Given the description of an element on the screen output the (x, y) to click on. 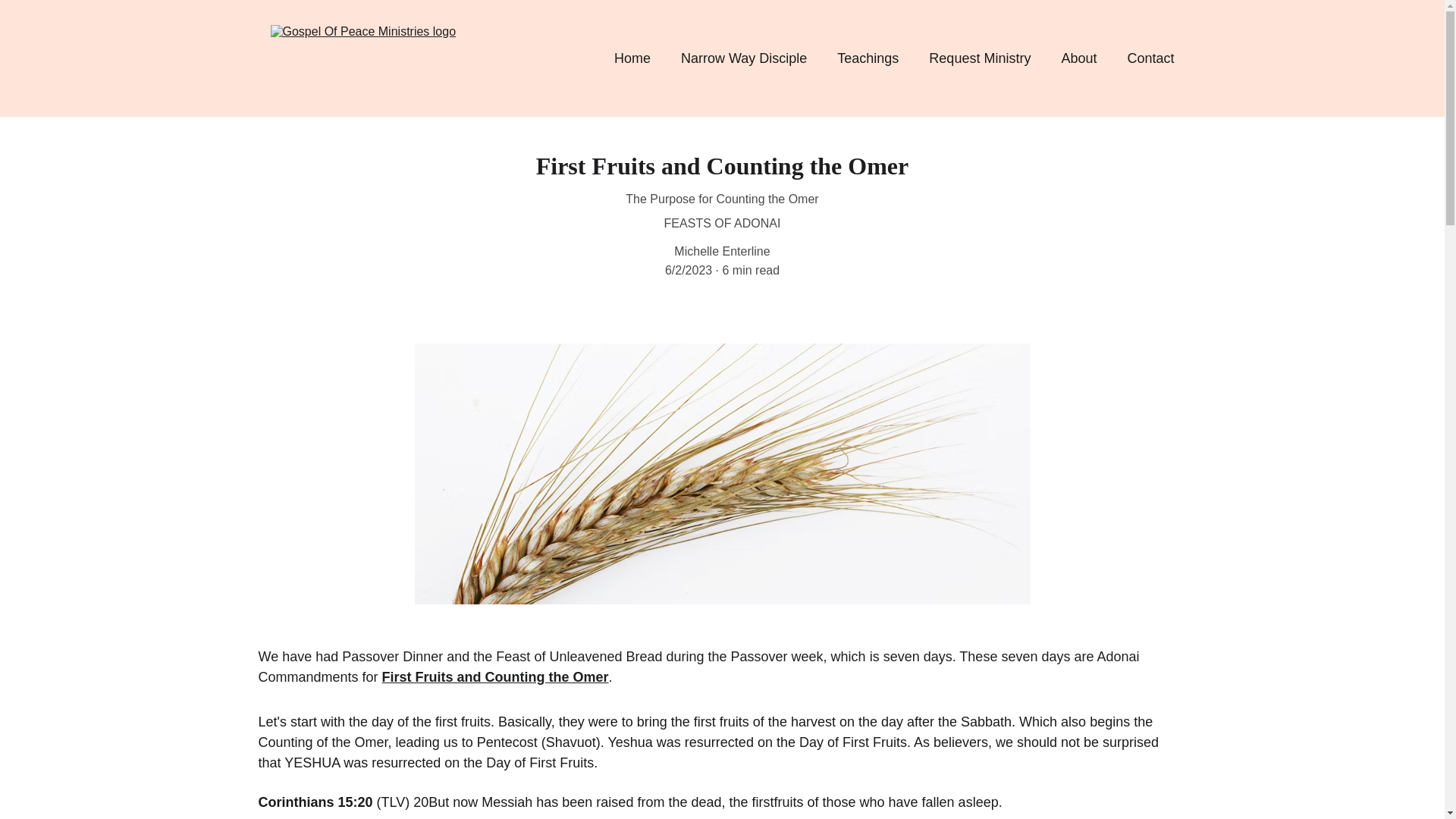
Request Ministry (979, 58)
Teachings (867, 58)
About (1078, 58)
Narrow Way Disciple (743, 58)
Contact (1149, 58)
Home (632, 58)
